Given the description of an element on the screen output the (x, y) to click on. 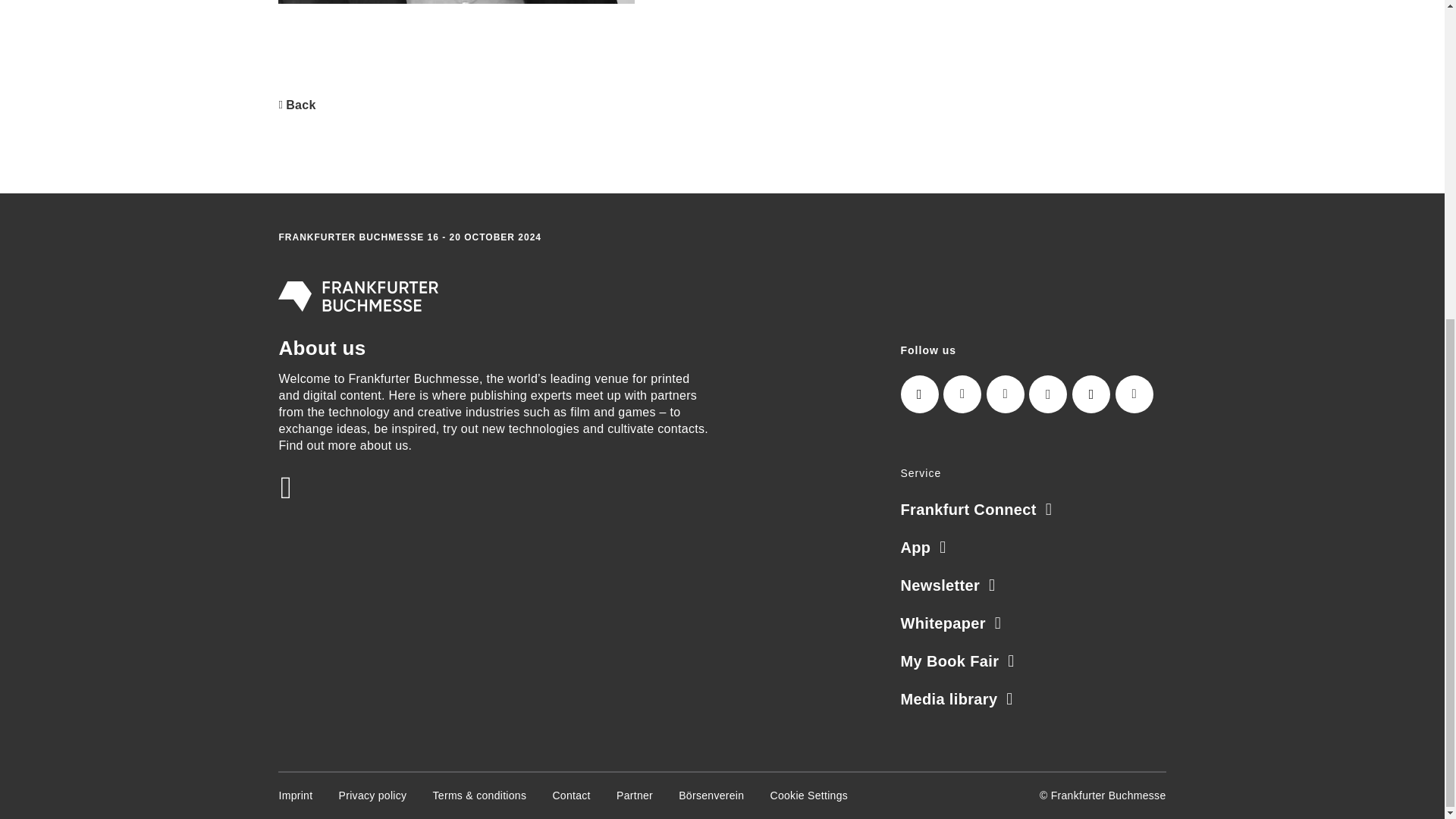
LinkedIn (962, 394)
Newsletter (948, 585)
TikTok (1090, 394)
App (923, 547)
Mette Hammerich Caserta (456, 2)
Instagram (920, 394)
Media library (957, 698)
Frankfurt Connect (976, 508)
Youtube (1134, 394)
My Book Fair (957, 661)
Whitepaper (951, 622)
Facebook (1048, 394)
Back (296, 105)
Twitter (1006, 394)
